Given the description of an element on the screen output the (x, y) to click on. 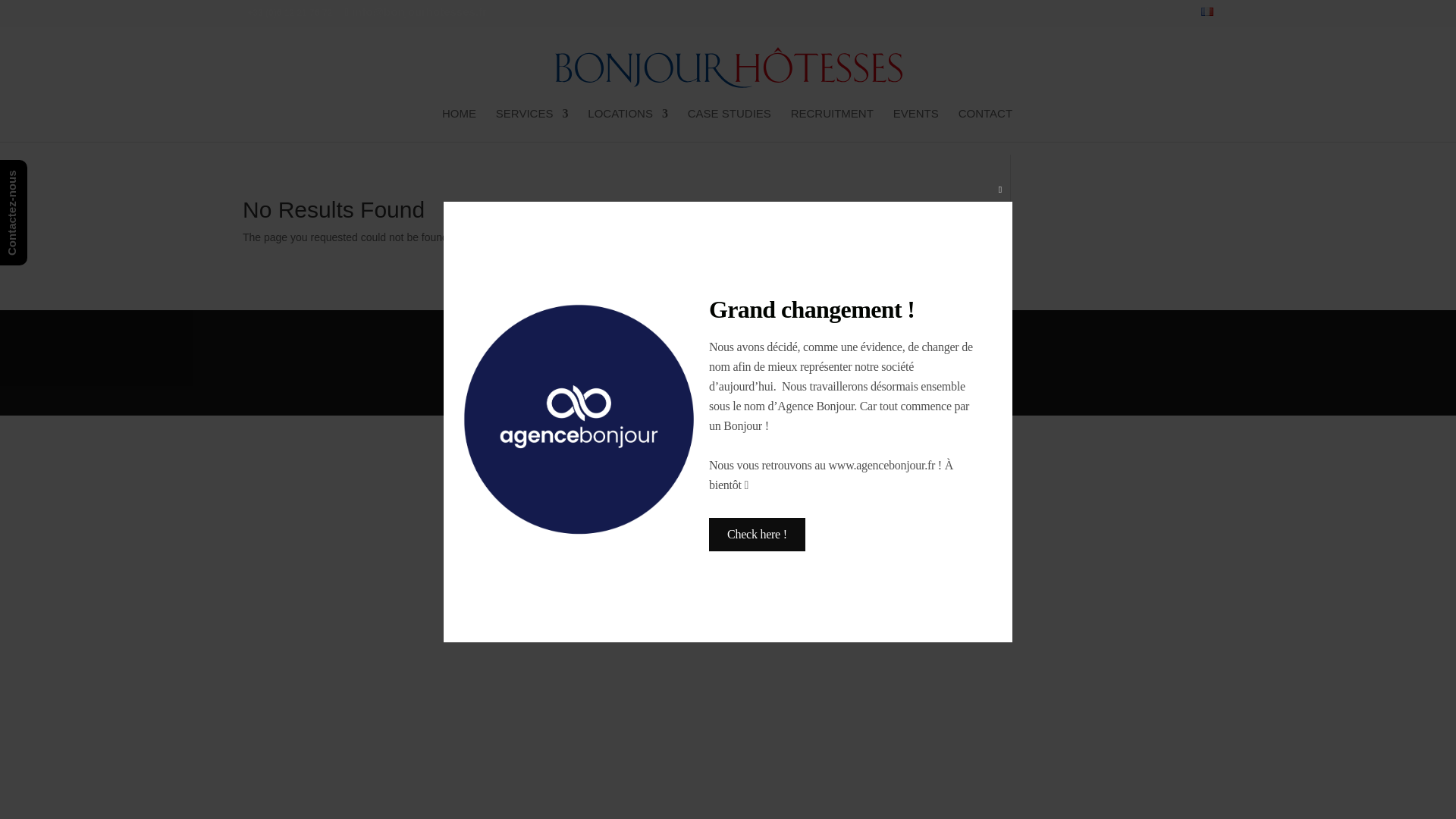
LOCATIONS (628, 123)
CONTACT (984, 123)
SERVICES (532, 123)
HOME (459, 123)
RECRUITMENT (831, 123)
CASE STUDIES (729, 123)
EVENTS (916, 123)
